Given the description of an element on the screen output the (x, y) to click on. 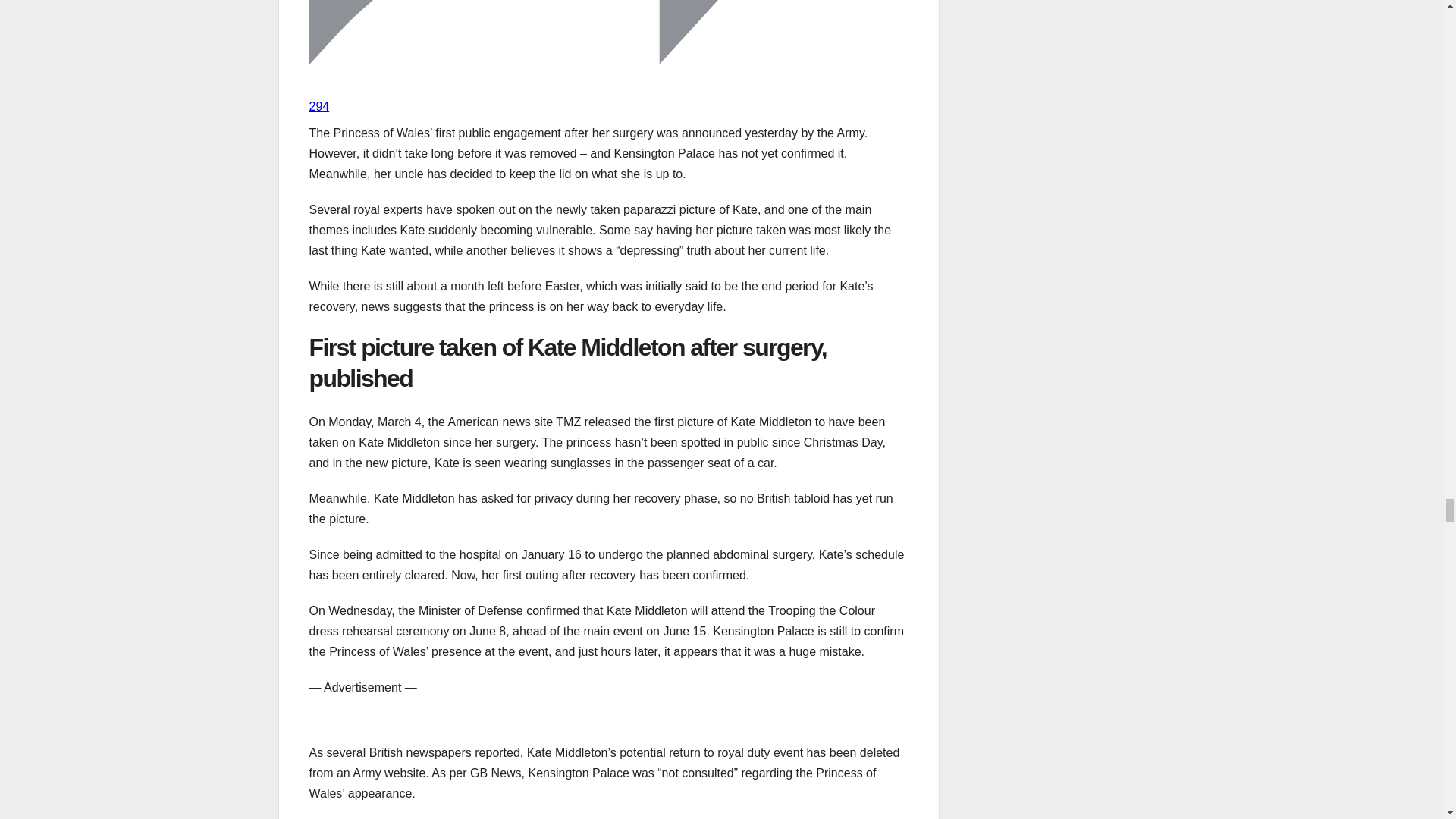
Advertisement (608, 720)
